Given the description of an element on the screen output the (x, y) to click on. 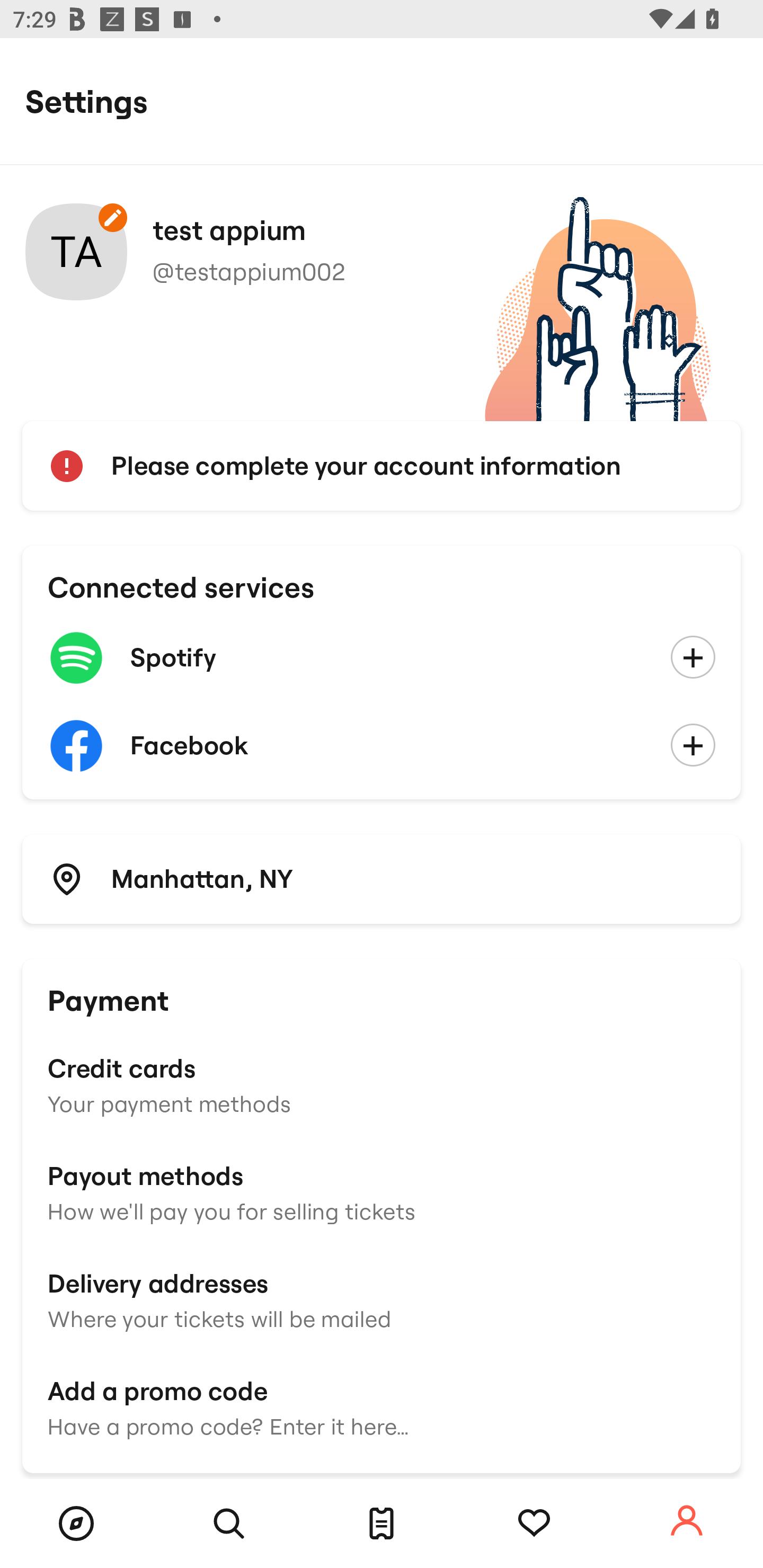
Your account photo (76, 252)
Please complete your account information (381, 466)
Spotify (381, 658)
Facebook (381, 746)
Manhattan, NY (381, 878)
Credit cards Your payment methods (381, 1084)
Add a promo code Have a promo code? Enter it here… (381, 1406)
Browse (76, 1523)
Search (228, 1523)
Tickets (381, 1523)
Tracking (533, 1523)
Account (686, 1521)
